Given the description of an element on the screen output the (x, y) to click on. 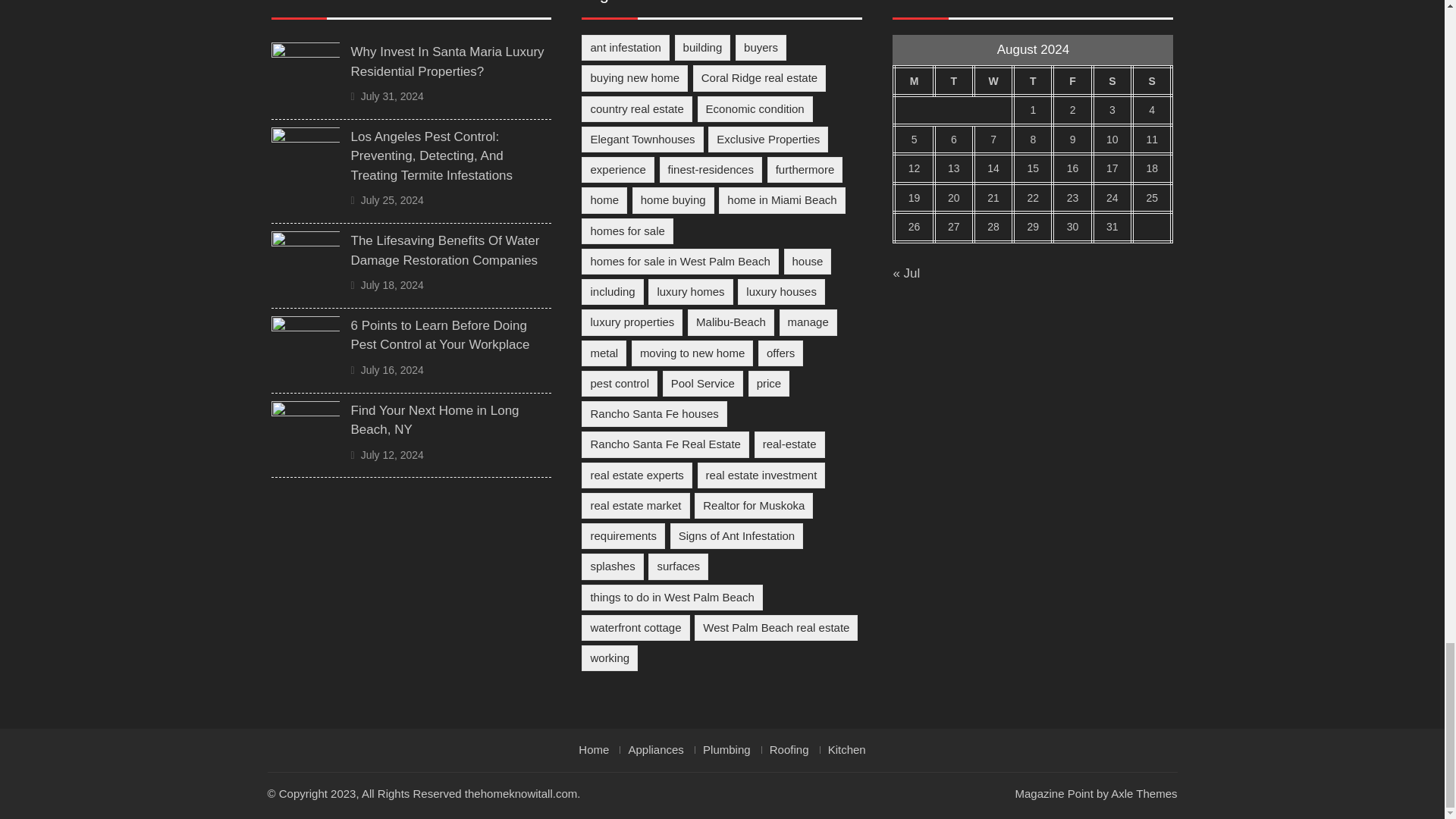
Saturday (1112, 81)
Monday (913, 81)
Thursday (1032, 81)
Friday (1072, 81)
Wednesday (993, 81)
Tuesday (954, 81)
Sunday (1152, 81)
